Given the description of an element on the screen output the (x, y) to click on. 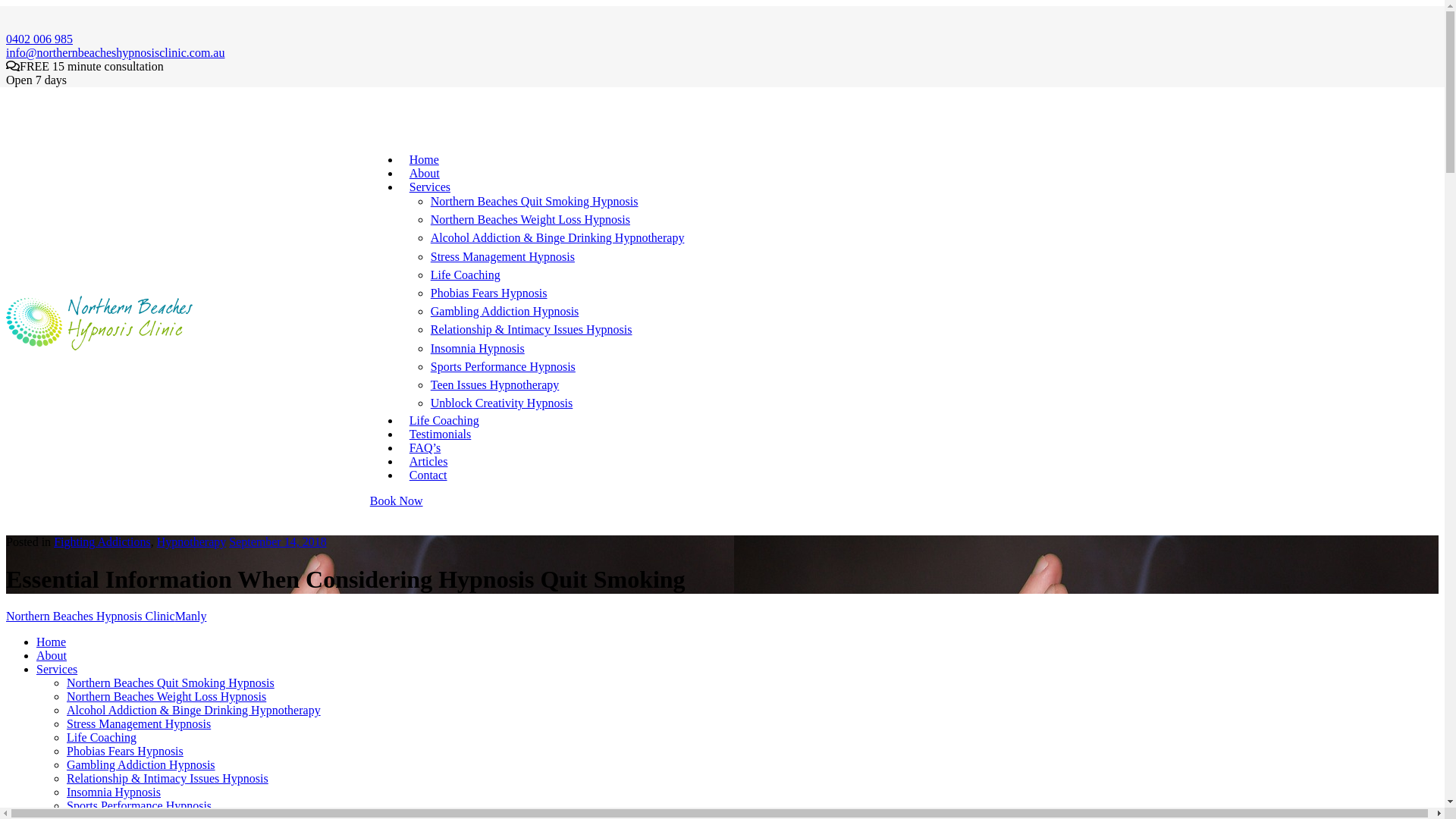
Home Element type: text (424, 159)
Sports Performance Hypnosis Element type: text (138, 805)
September 14, 2018 Element type: text (277, 541)
Northern Beaches Quit Smoking Hypnosis Element type: text (534, 200)
Northern Beaches Weight Loss Hypnosis Element type: text (166, 696)
Sports Performance Hypnosis Element type: text (502, 366)
Life Coaching Element type: text (465, 274)
About Element type: text (51, 655)
Stress Management Hypnosis Element type: text (502, 256)
Book Now Element type: text (396, 500)
Northern Beaches Hypnosis ClinicManly Element type: text (106, 615)
Life Coaching Element type: text (444, 420)
Northern Beaches Quit Smoking Hypnosis Element type: text (170, 682)
Gambling Addiction Hypnosis Element type: text (140, 764)
About Element type: text (424, 173)
Northern Beaches Weight Loss Hypnosis Element type: text (530, 219)
Home Element type: text (50, 641)
Life Coaching Element type: text (101, 737)
Relationship & Intimacy Issues Hypnosis Element type: text (531, 329)
Gambling Addiction Hypnosis Element type: text (504, 310)
Alcohol Addiction & Binge Drinking Hypnotherapy Element type: text (557, 237)
Stress Management Hypnosis Element type: text (138, 723)
Unblock Creativity Hypnosis Element type: text (501, 402)
Fighting Addictions Element type: text (101, 541)
Services Element type: text (429, 186)
Teen Issues Hypnotherapy Element type: text (494, 384)
Alcohol Addiction & Binge Drinking Hypnotherapy Element type: text (193, 709)
Relationship & Intimacy Issues Hypnosis Element type: text (167, 777)
Services Element type: text (56, 668)
Insomnia Hypnosis Element type: text (113, 791)
info@northernbeacheshypnosisclinic.com.au Element type: text (115, 52)
Phobias Fears Hypnosis Element type: text (124, 750)
Insomnia Hypnosis Element type: text (477, 347)
Contact Element type: text (428, 475)
Testimonials Element type: text (440, 434)
Hypnotherapy Element type: text (191, 541)
Articles Element type: text (428, 461)
0402 006 985 Element type: text (39, 38)
Phobias Fears Hypnosis Element type: text (488, 292)
